Given the description of an element on the screen output the (x, y) to click on. 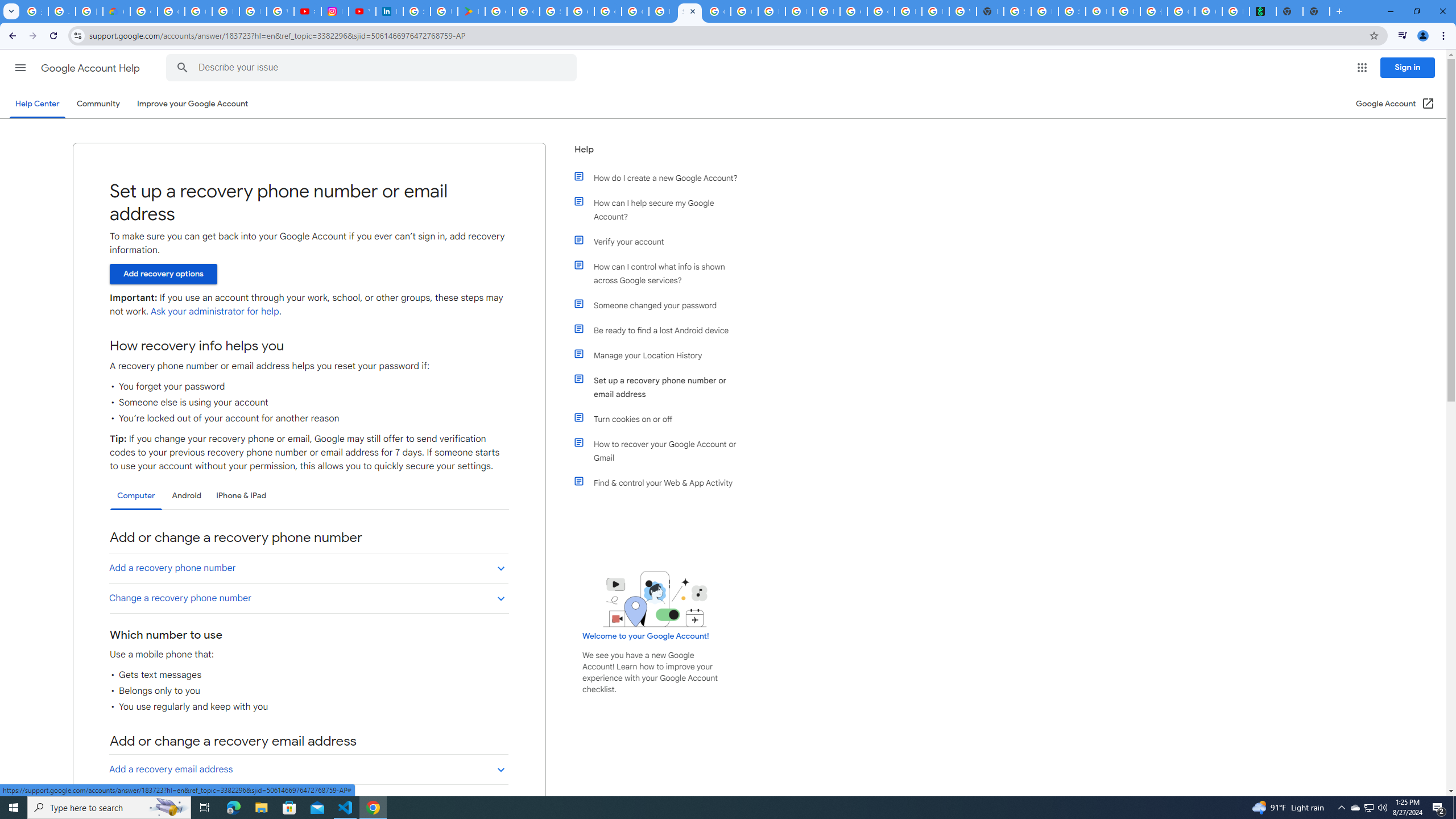
Sign in - Google Accounts (1017, 11)
Sign in - Google Accounts (553, 11)
#nbabasketballhighlights - YouTube (307, 11)
Google Cloud Platform (880, 11)
